Given the description of an element on the screen output the (x, y) to click on. 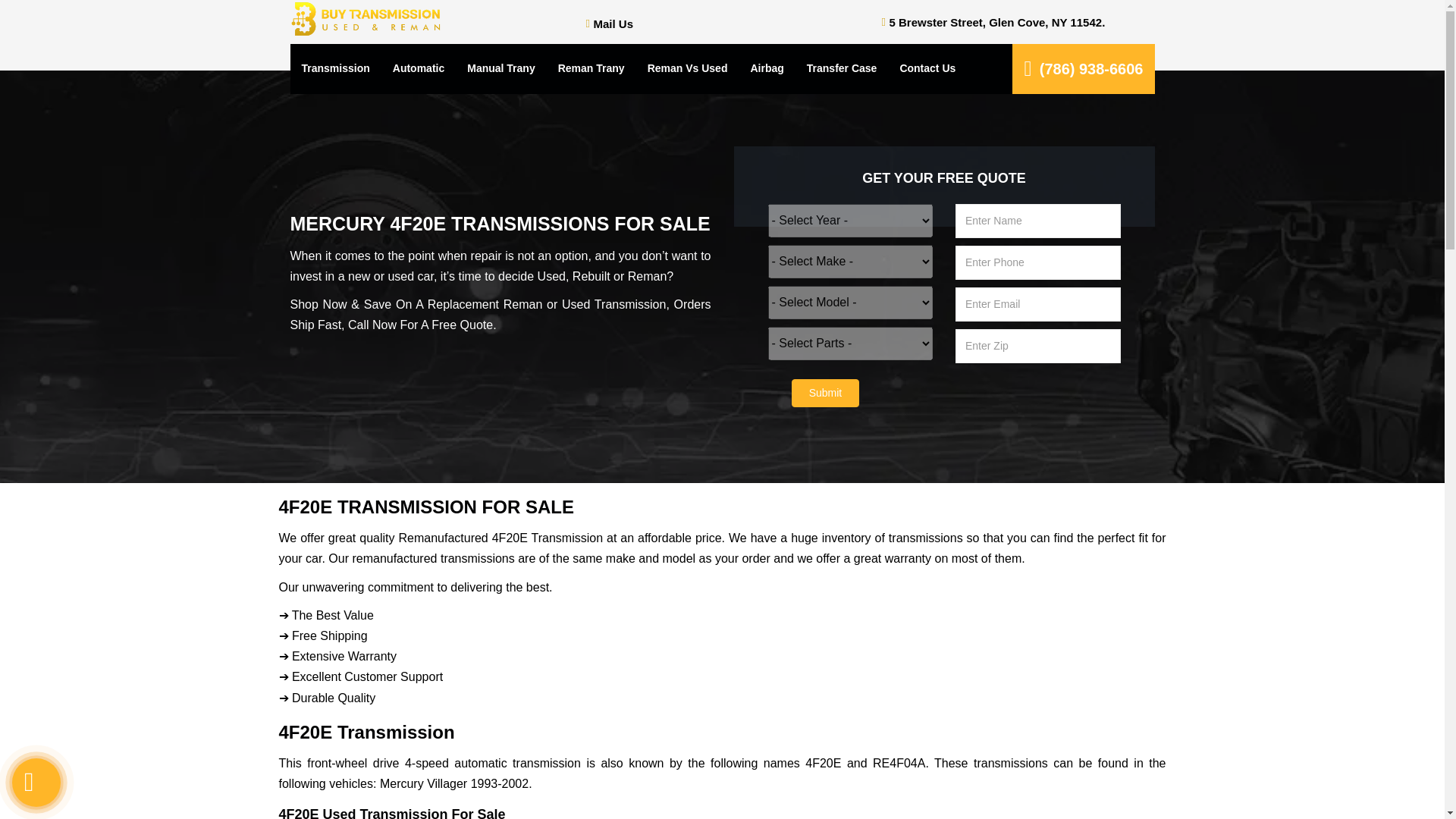
Automatic (418, 69)
Airbag (766, 69)
Transfer Case (841, 69)
Manual Trany (500, 69)
Submit (826, 393)
Reman Vs Used (687, 69)
Buy Transmission (365, 20)
Reman Trany (591, 69)
Transmission (334, 69)
Mail Us (612, 23)
